Given the description of an element on the screen output the (x, y) to click on. 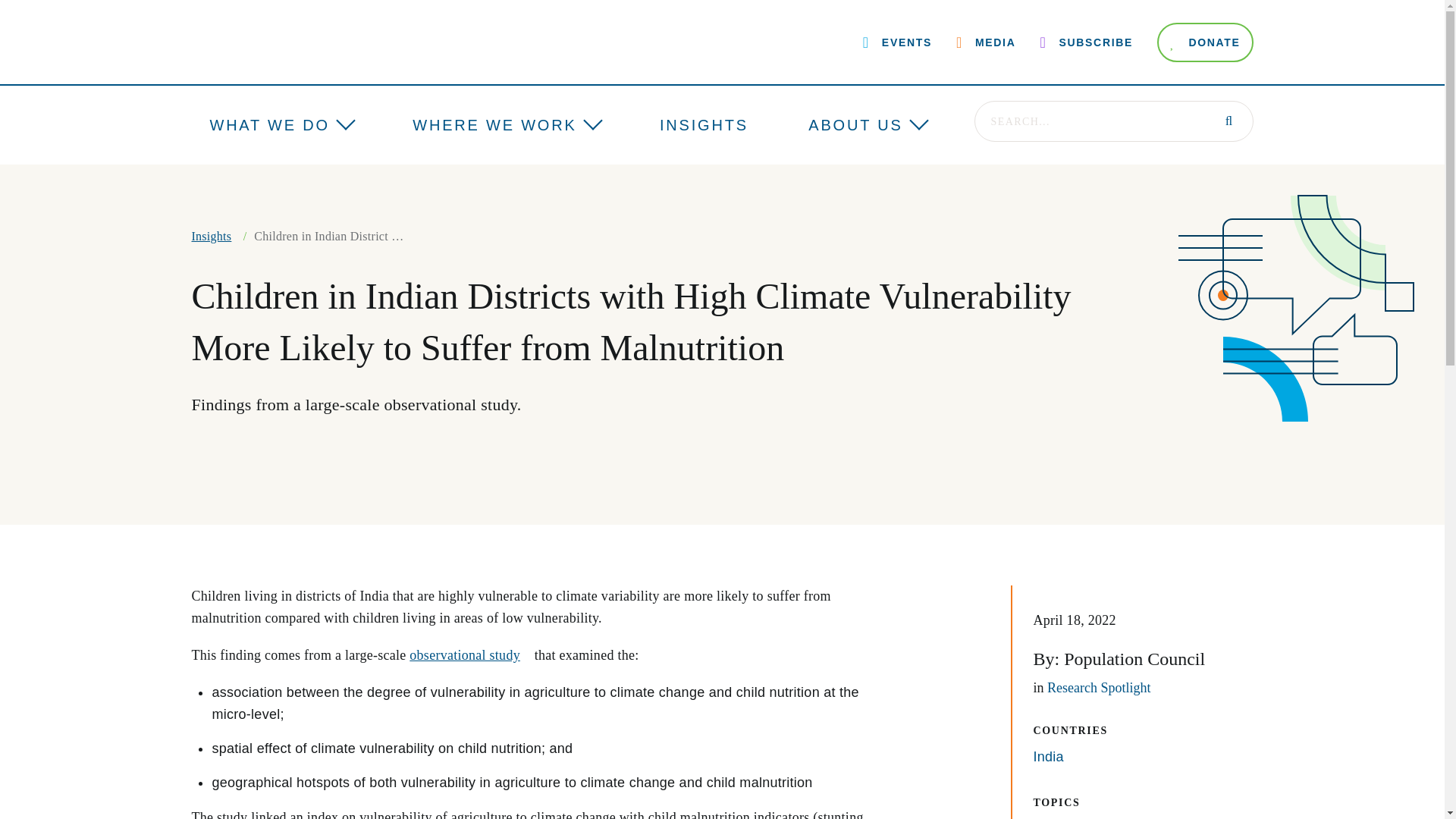
WHERE WE WORK (494, 125)
 View press release and other in the news content (986, 42)
DONATE (1205, 42)
EVENTS (897, 42)
SUBSCRIBE (1085, 42)
Subscribe to our newsletter (1085, 42)
MEDIA (986, 42)
WHAT WE DO (269, 125)
View upcoming events (897, 42)
